Given the description of an element on the screen output the (x, y) to click on. 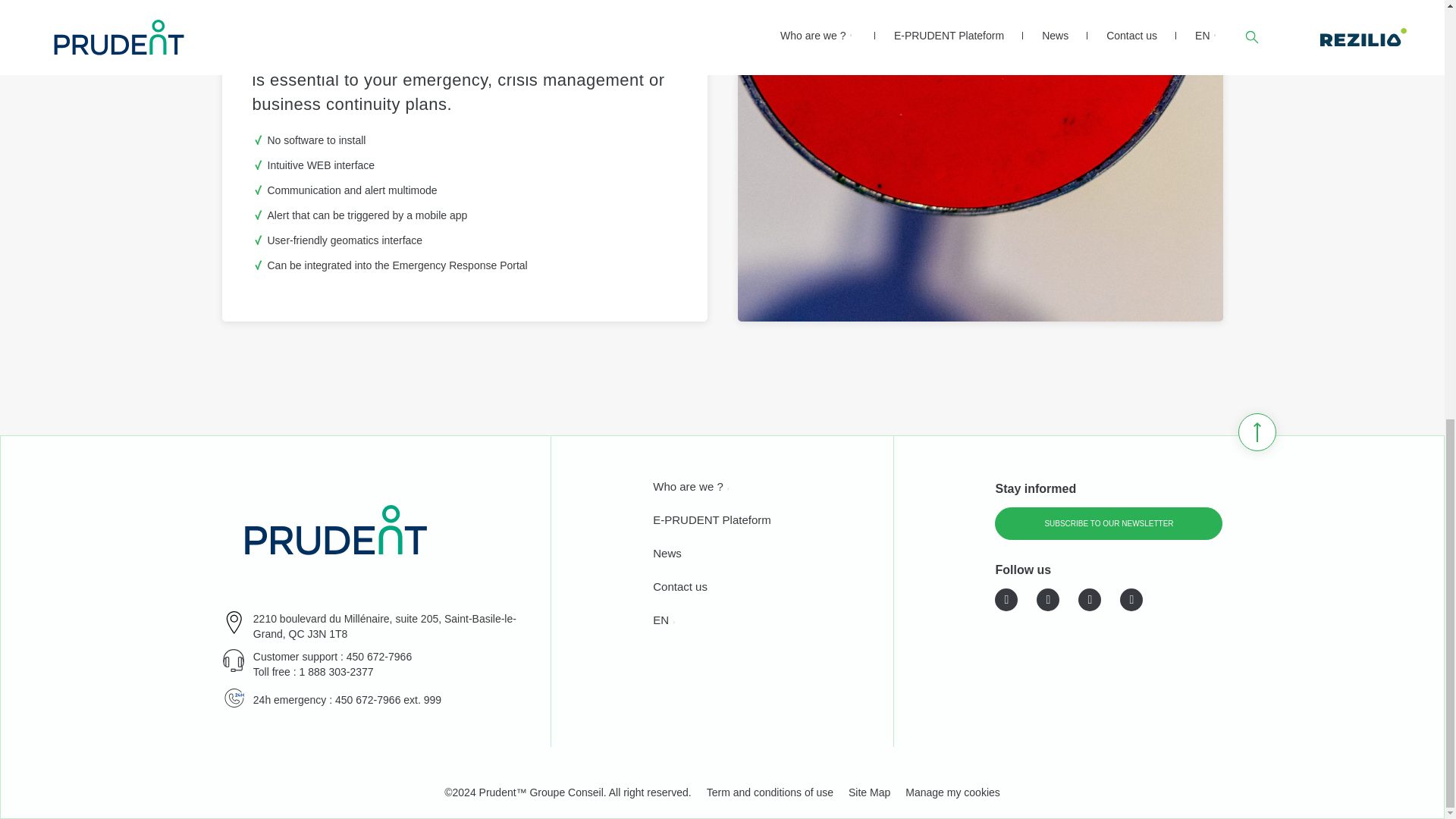
EN (660, 622)
